Given the description of an element on the screen output the (x, y) to click on. 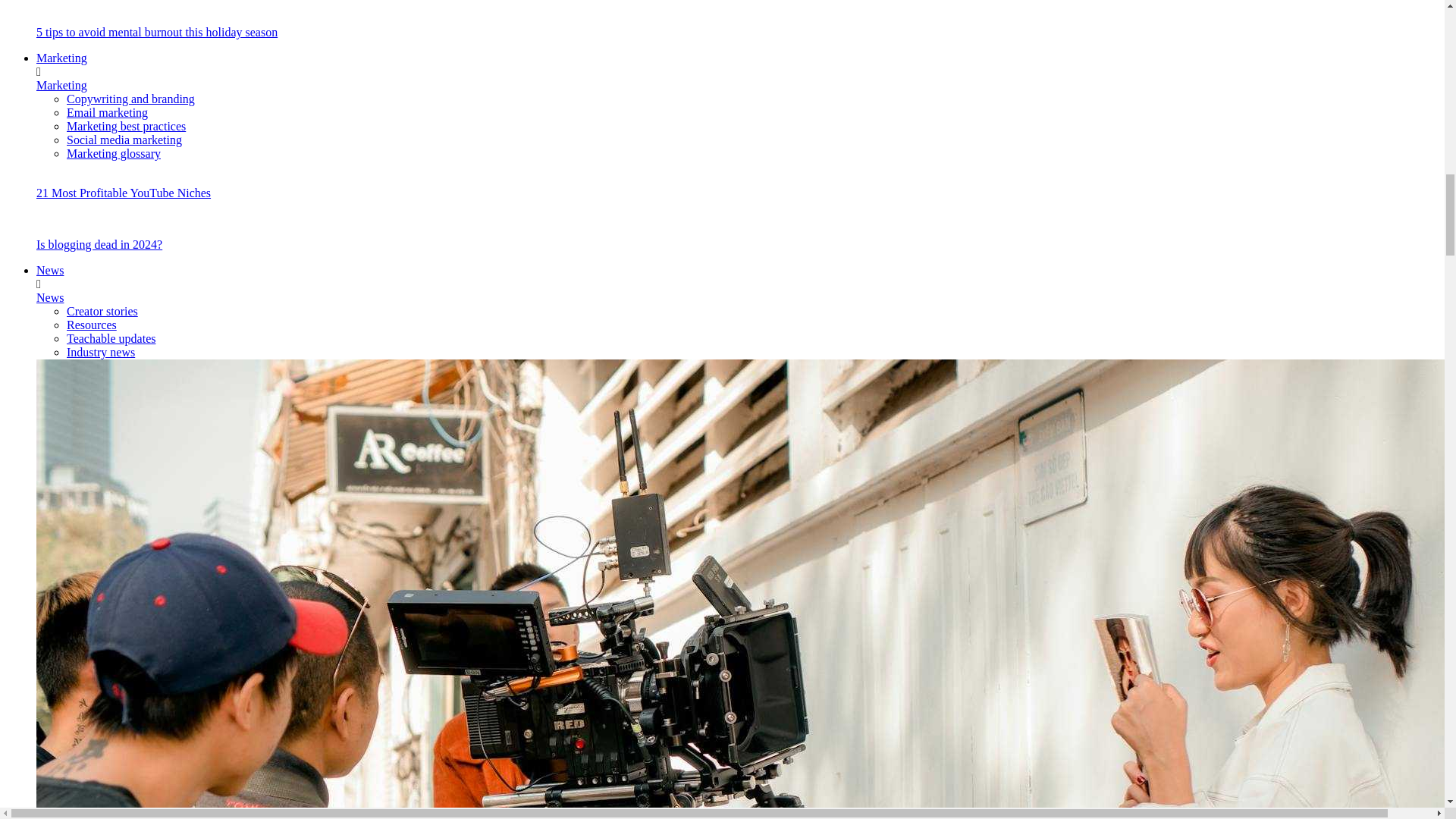
Social media marketing (124, 139)
Marketing (61, 57)
Marketing (61, 84)
Marketing best practices (126, 125)
Email marketing (107, 112)
Marketing glossary (113, 153)
Copywriting and branding (130, 98)
